Given the description of an element on the screen output the (x, y) to click on. 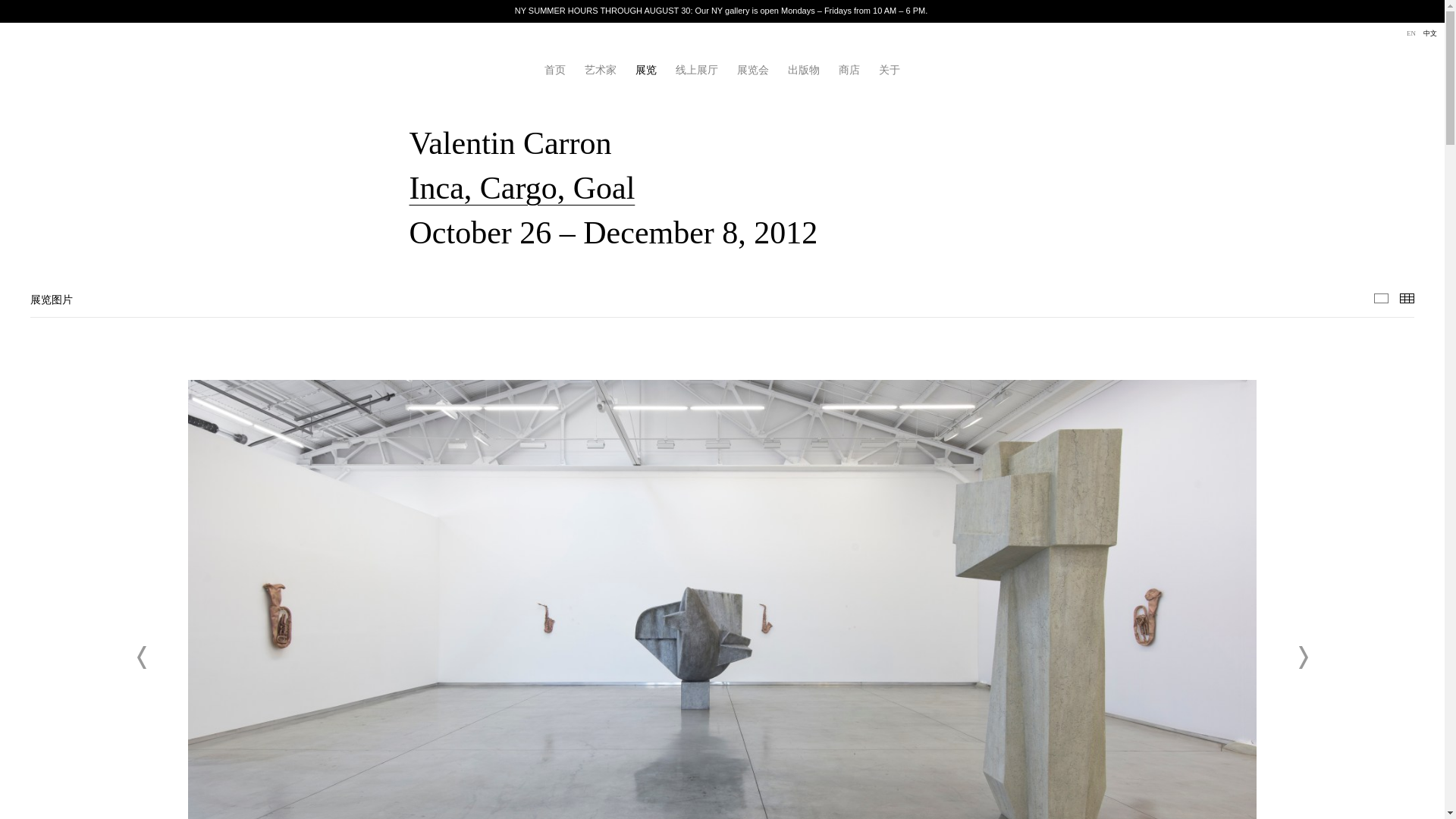
EN (1410, 32)
